Given the description of an element on the screen output the (x, y) to click on. 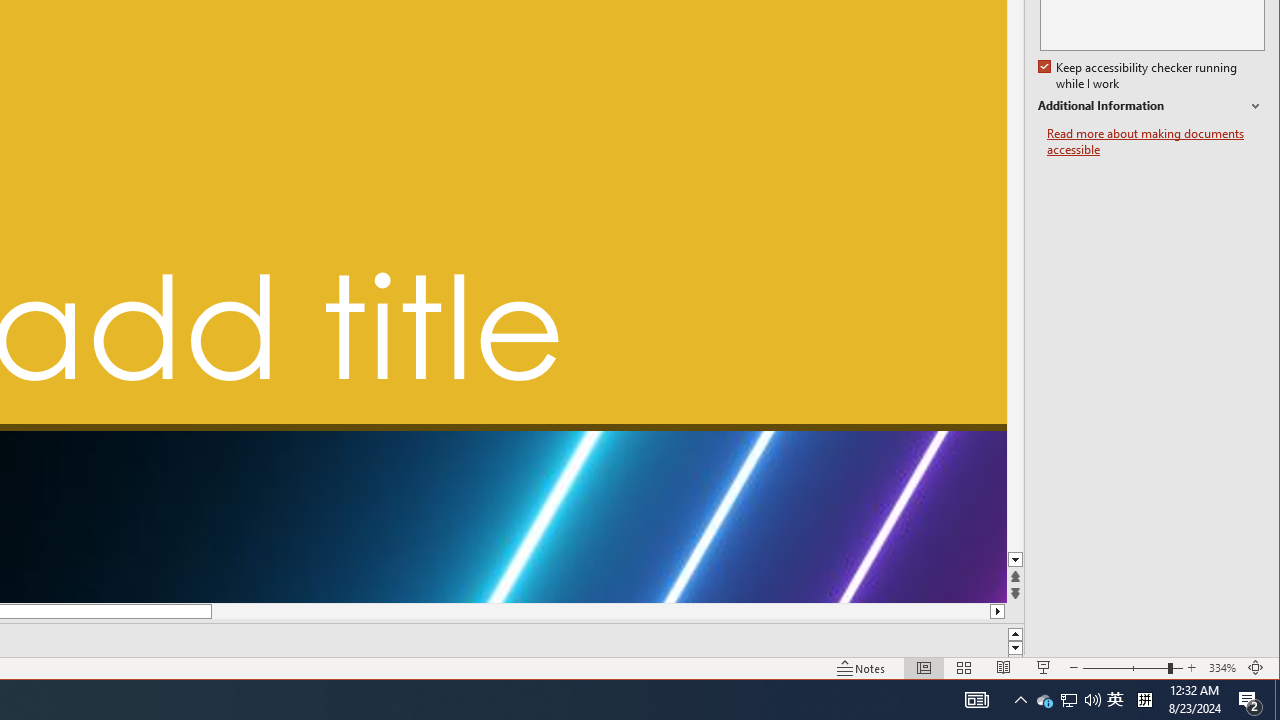
Action Center, 2 new notifications (1250, 699)
Read more about making documents accessible (1155, 142)
